Given the description of an element on the screen output the (x, y) to click on. 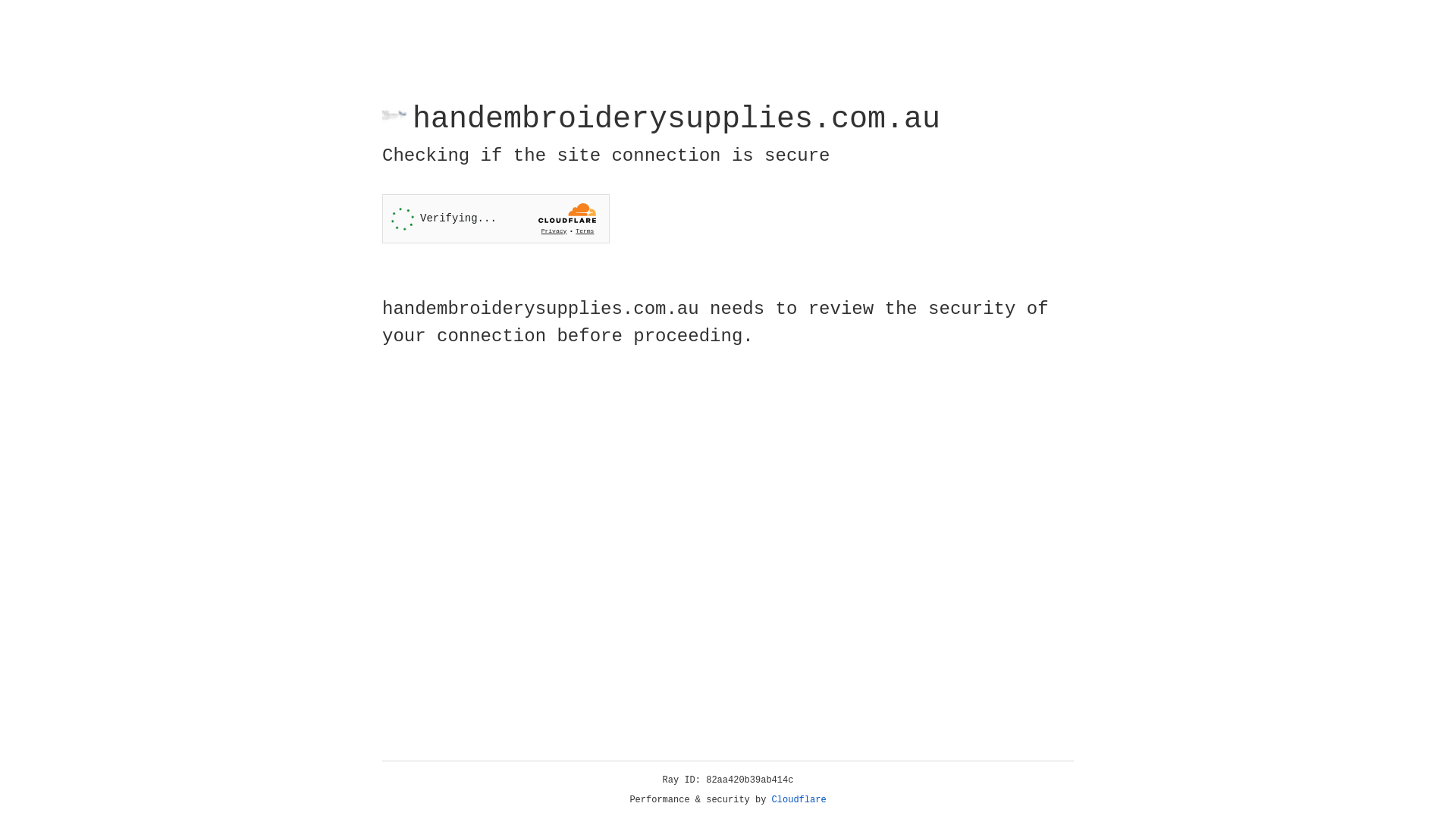
Cloudflare Element type: text (798, 799)
Widget containing a Cloudflare security challenge Element type: hover (495, 218)
